Given the description of an element on the screen output the (x, y) to click on. 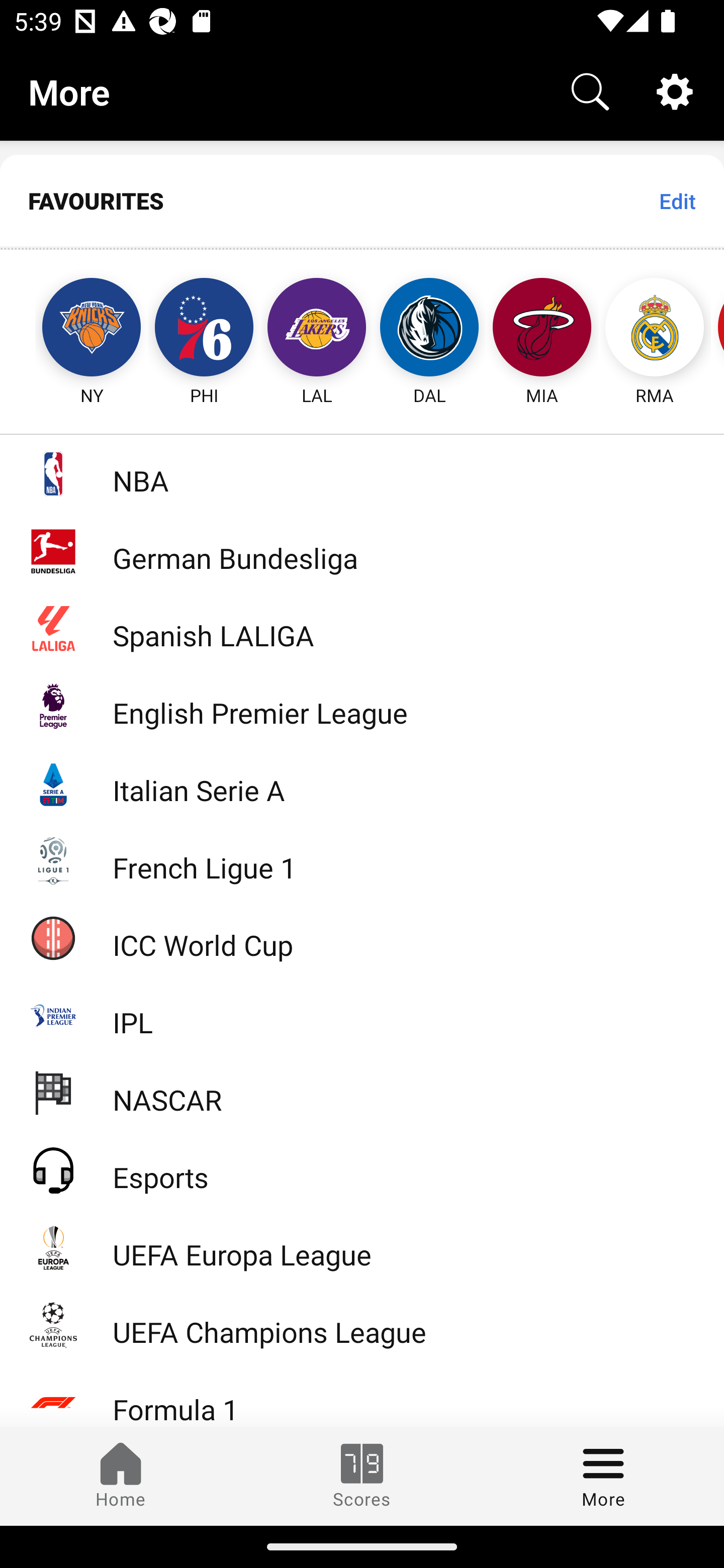
Search (590, 90)
Settings (674, 90)
Edit (676, 200)
NY New York Knicks (73, 328)
PHI Philadelphia 76ers (203, 328)
LAL Los Angeles Lakers (316, 328)
DAL Dallas Mavericks (428, 328)
MIA Miami Heat (541, 328)
RMA Real Madrid (654, 328)
NBA (362, 473)
German Bundesliga (362, 550)
Spanish LALIGA (362, 627)
English Premier League (362, 705)
Italian Serie A (362, 782)
French Ligue 1 (362, 859)
ICC World Cup (362, 937)
IPL (362, 1014)
NASCAR (362, 1091)
Esports (362, 1169)
UEFA Europa League (362, 1246)
UEFA Champions League (362, 1324)
Home (120, 1475)
Scores (361, 1475)
